Given the description of an element on the screen output the (x, y) to click on. 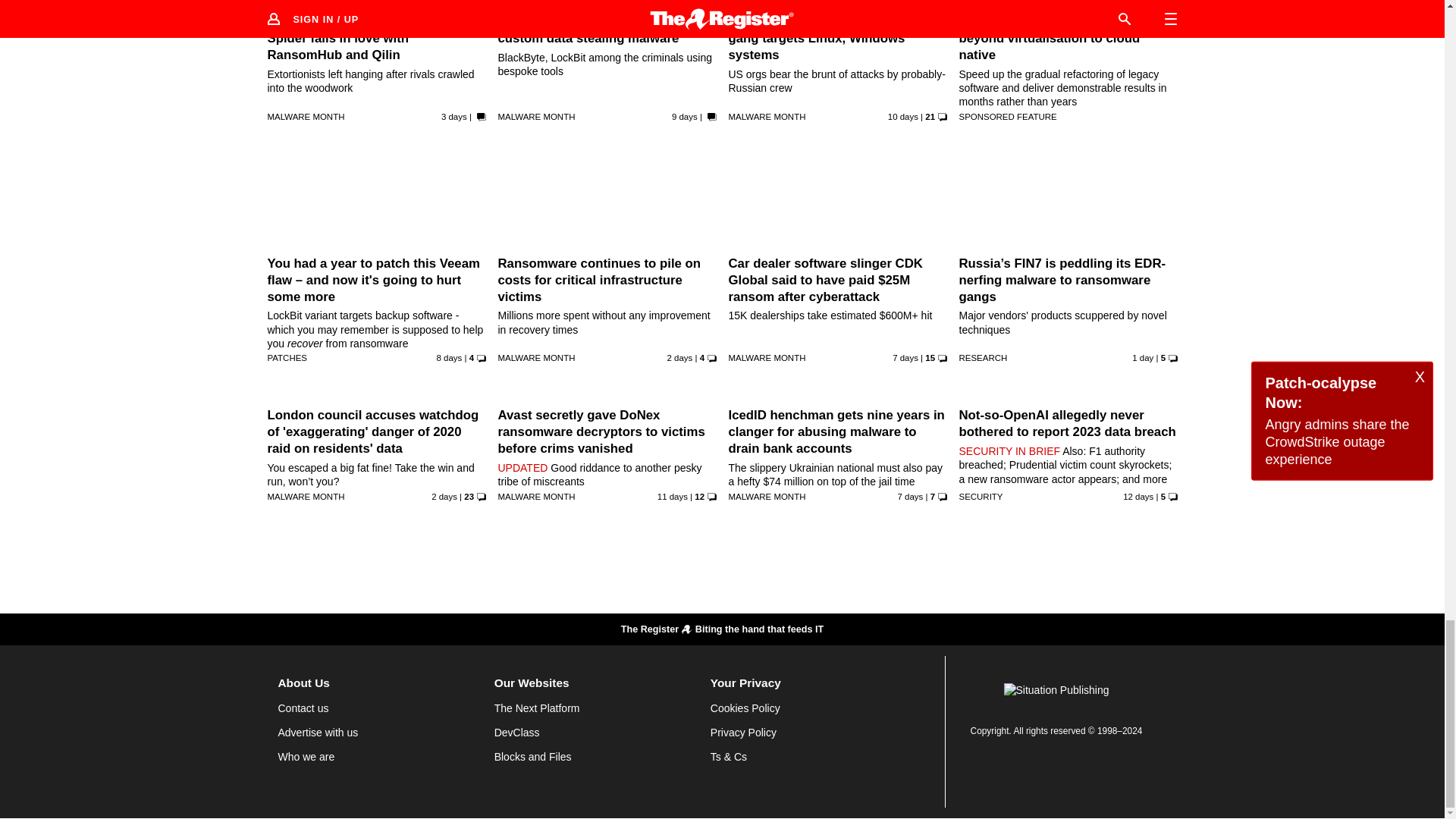
17 Jul 2024 11:45 (443, 496)
11 Jul 2024 7:28 (449, 357)
17 Jul 2024 15:1 (679, 357)
18 Jul 2024 13:40 (1142, 357)
8 Jul 2024 12:44 (672, 496)
9 Jul 2024 7:29 (903, 116)
12 Jul 2024 23:53 (905, 357)
16 Jul 2024 18:5 (454, 116)
10 Jul 2024 10:0 (684, 116)
